Given the description of an element on the screen output the (x, y) to click on. 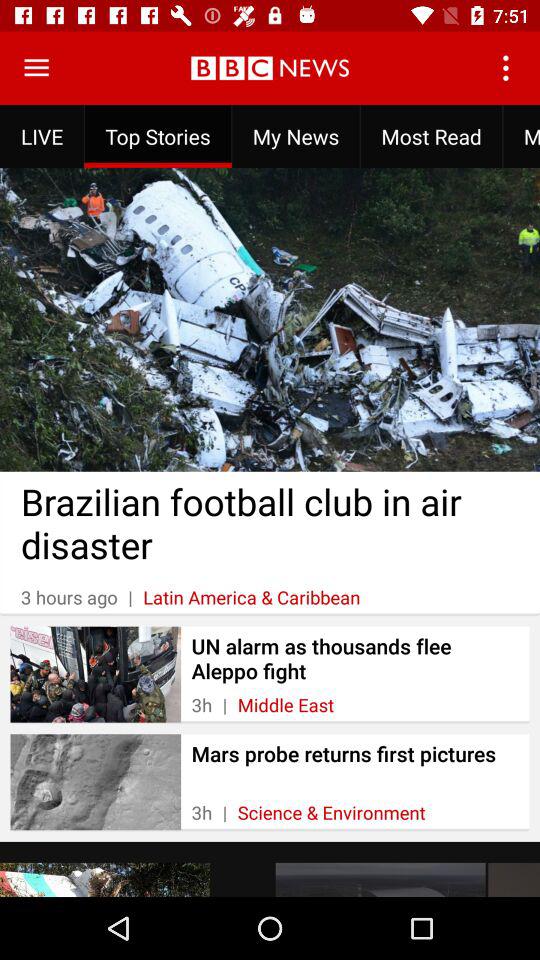
tap icon to the right of the most read item (521, 136)
